Given the description of an element on the screen output the (x, y) to click on. 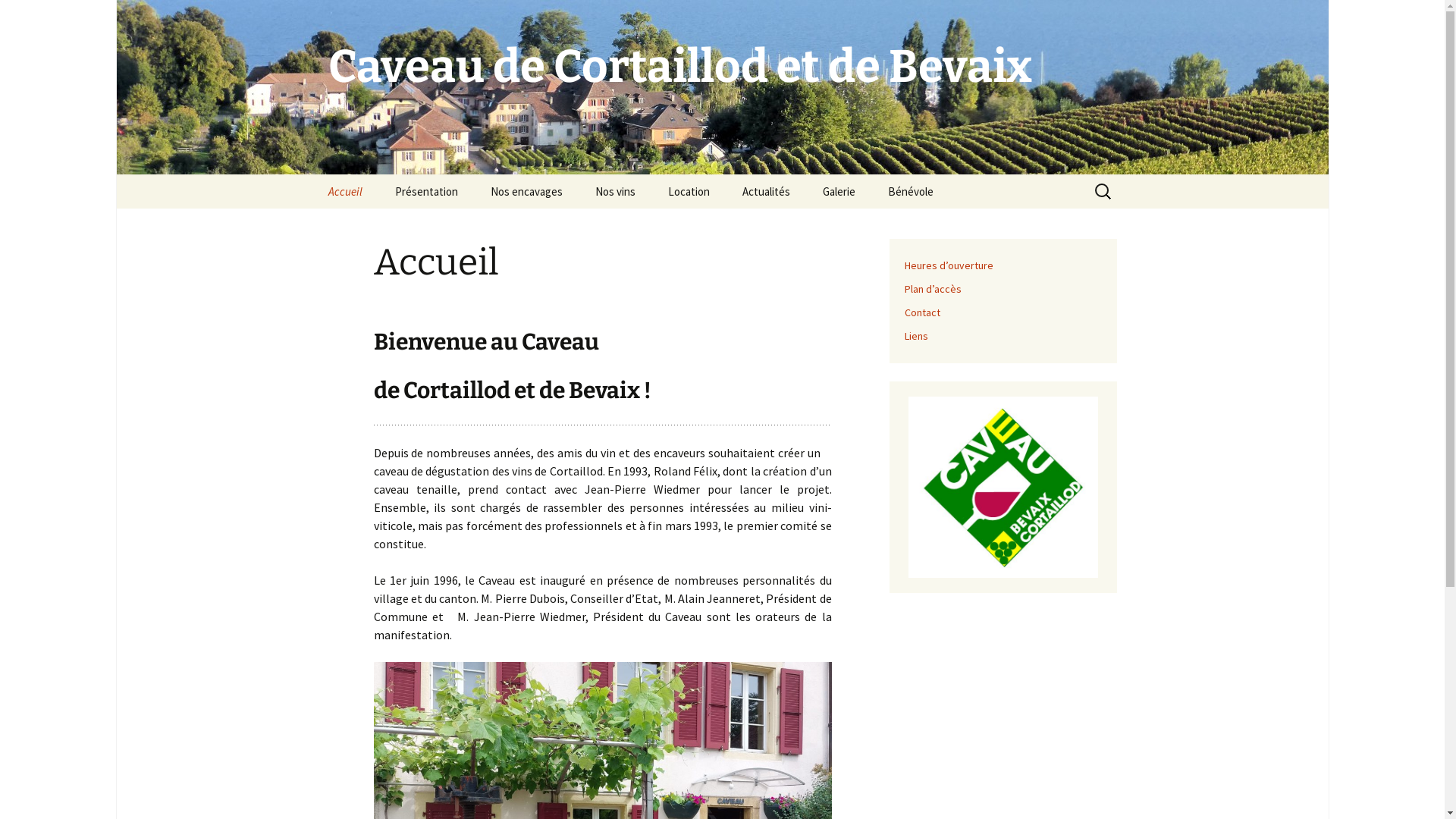
Vins blancs Element type: text (655, 225)
Nos encavages Element type: text (525, 191)
Nos vins Element type: text (614, 191)
Location Element type: text (688, 191)
Domaine Brunner Element type: text (550, 225)
Contact Element type: text (921, 312)
Rechercher Element type: text (18, 16)
Aller au contenu Element type: text (312, 173)
Accueil Element type: text (344, 191)
Liens Element type: text (915, 335)
Galerie Element type: text (837, 191)
Caveau de Cortaillod et de Bevaix Element type: text (721, 87)
